Given the description of an element on the screen output the (x, y) to click on. 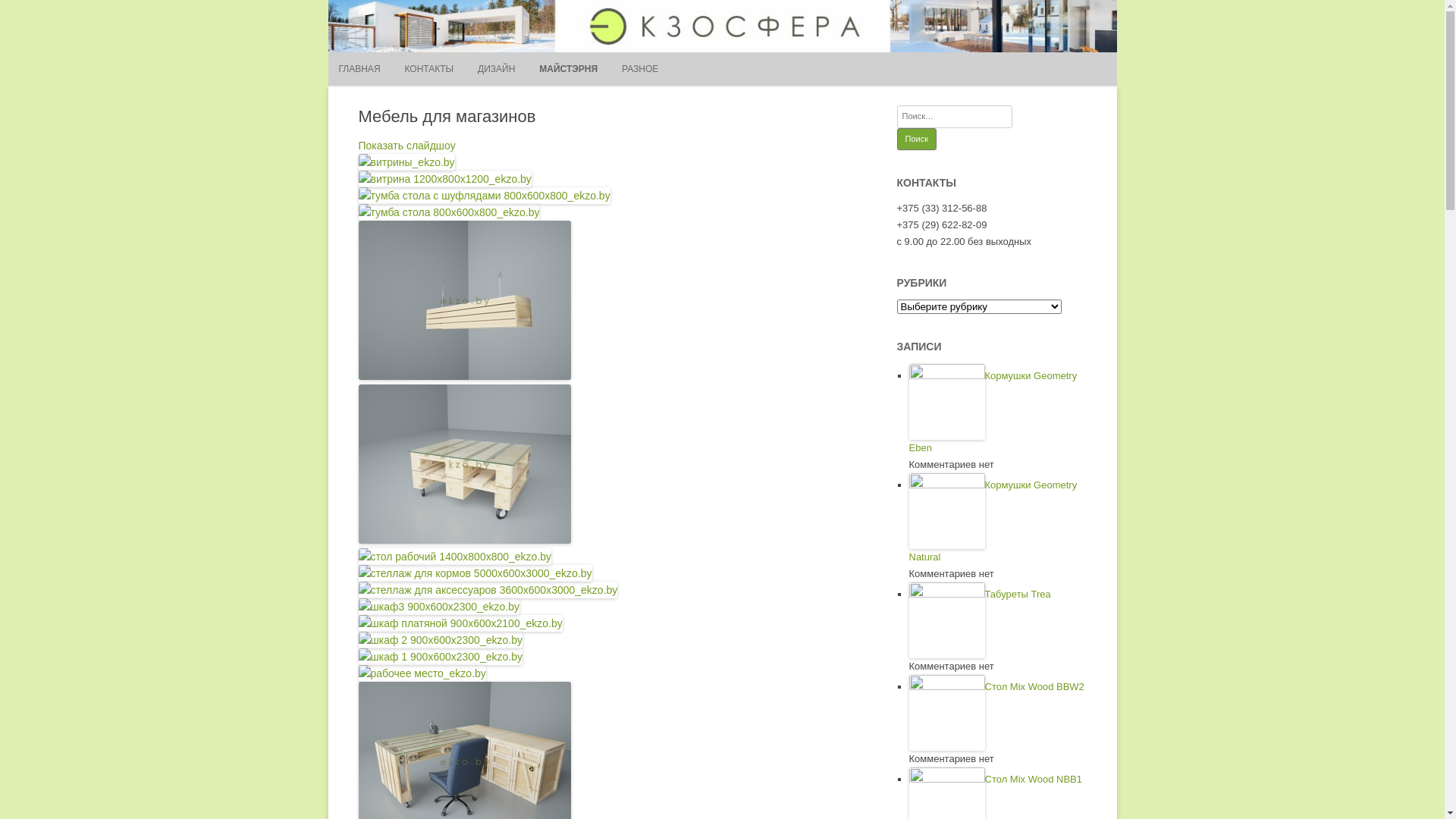
Ekzo.by Element type: text (58, 31)
